Given the description of an element on the screen output the (x, y) to click on. 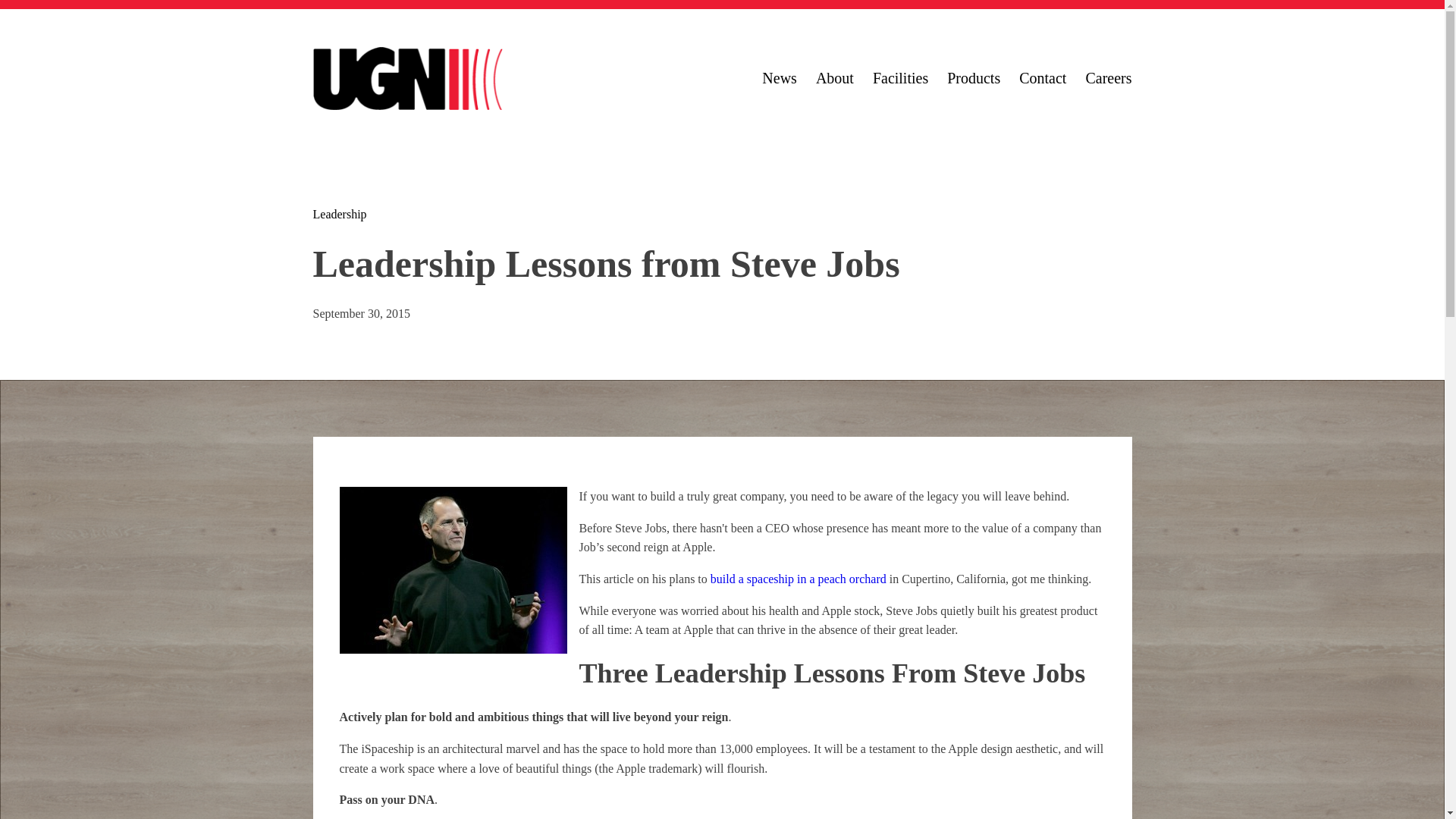
About (834, 77)
Careers (1107, 77)
Facilities (900, 77)
Contact (1042, 77)
News (778, 77)
Products (973, 77)
